Given the description of an element on the screen output the (x, y) to click on. 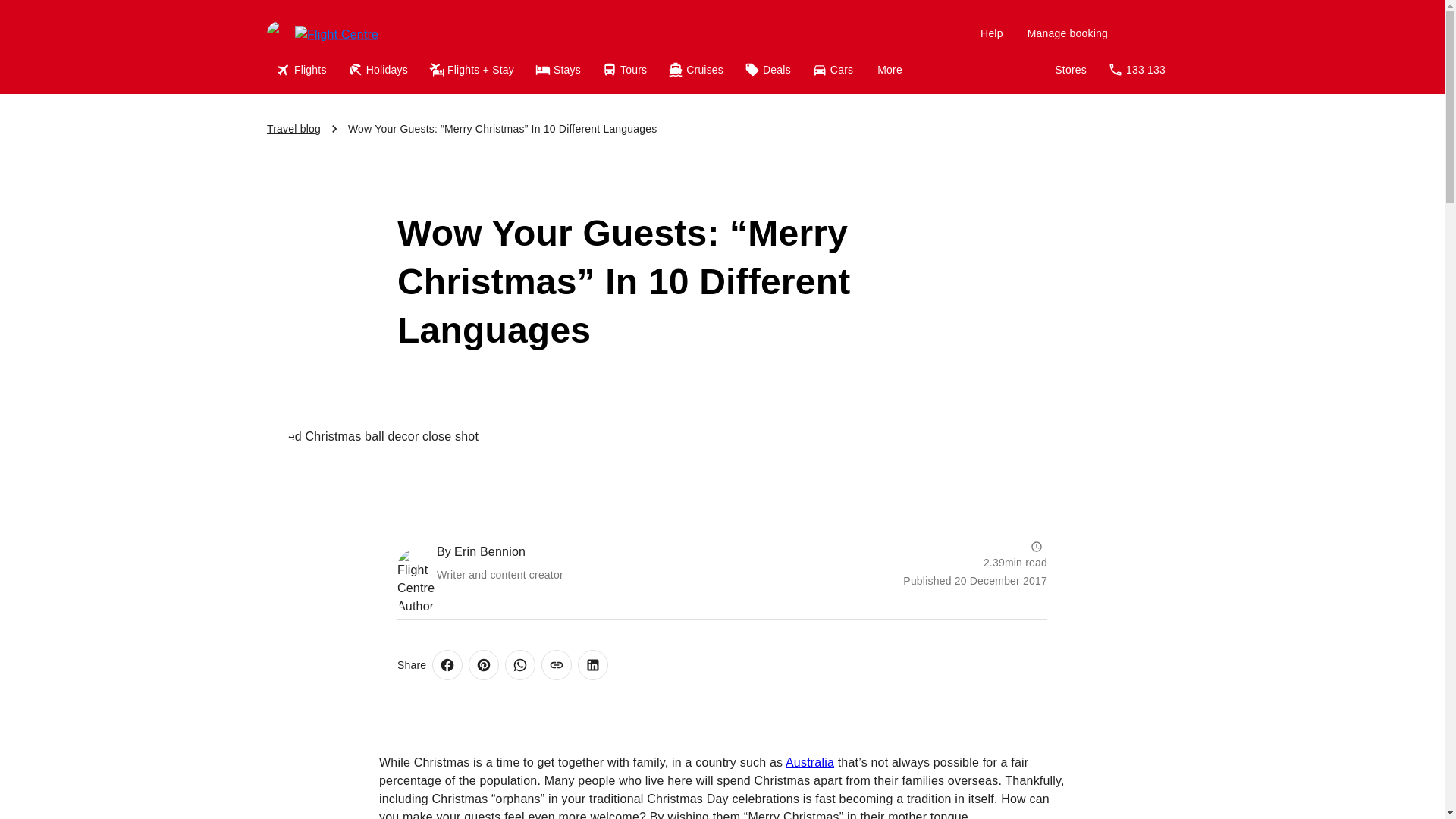
133 133 (1138, 69)
Flights (302, 69)
Flight Centre (370, 32)
More (889, 69)
Cars (833, 69)
Holidays (379, 69)
Manage booking (1066, 33)
More (889, 69)
Travel blog (293, 128)
Flights (302, 69)
Tours (625, 69)
Manage booking (1066, 33)
Australia (810, 762)
Holidays (379, 69)
Stores (1070, 69)
